Given the description of an element on the screen output the (x, y) to click on. 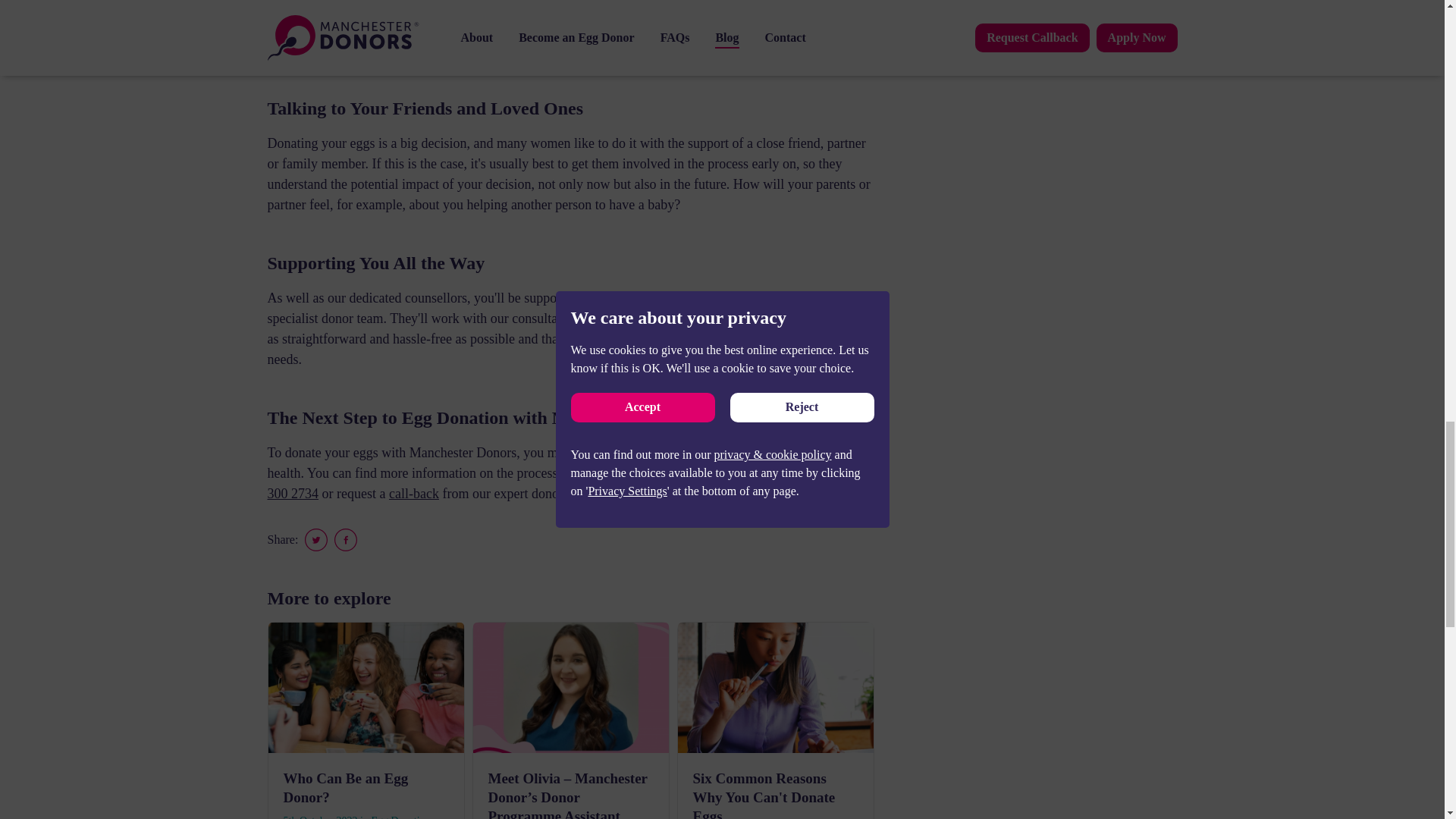
here (755, 473)
call-back (413, 493)
Share on Facebook (345, 539)
apply (632, 493)
Share on Twitter (315, 539)
0161 300 2734 (563, 483)
